Given the description of an element on the screen output the (x, y) to click on. 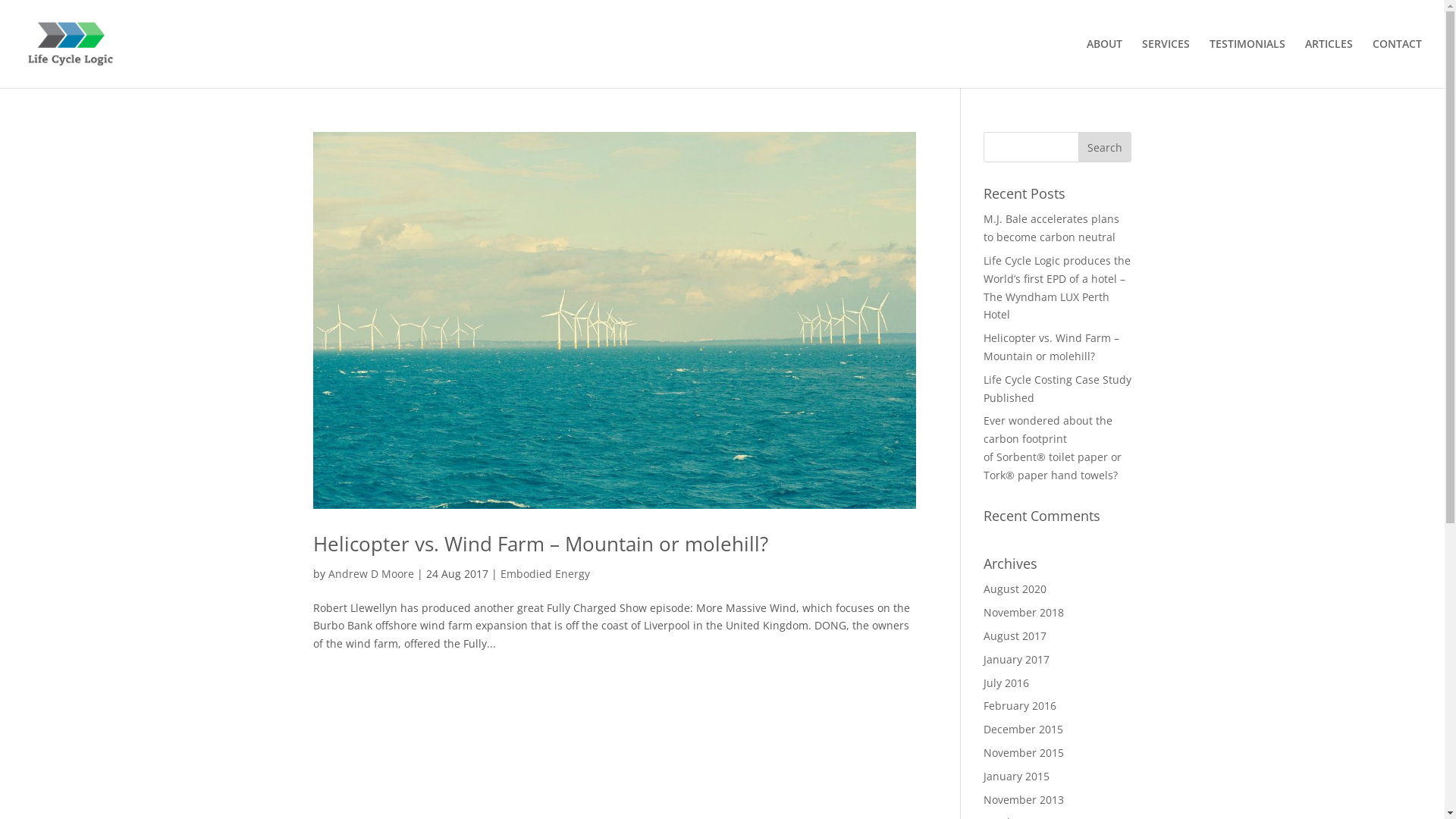
November 2018 Element type: text (1023, 612)
ABOUT Element type: text (1104, 62)
November 2015 Element type: text (1023, 752)
January 2017 Element type: text (1016, 659)
Life Cycle Costing Case Study Published Element type: text (1057, 388)
November 2013 Element type: text (1023, 798)
July 2016 Element type: text (1006, 682)
January 2015 Element type: text (1016, 775)
February 2016 Element type: text (1019, 705)
TESTIMONIALS Element type: text (1247, 62)
Embodied Energy Element type: text (544, 573)
December 2015 Element type: text (1023, 728)
CONTACT Element type: text (1396, 62)
M.J. Bale accelerates plans to become carbon neutral Element type: text (1051, 227)
ARTICLES Element type: text (1328, 62)
Andrew D Moore Element type: text (370, 573)
August 2020 Element type: text (1014, 588)
SERVICES Element type: text (1165, 62)
August 2017 Element type: text (1014, 635)
Search Element type: text (1104, 146)
